Given the description of an element on the screen output the (x, y) to click on. 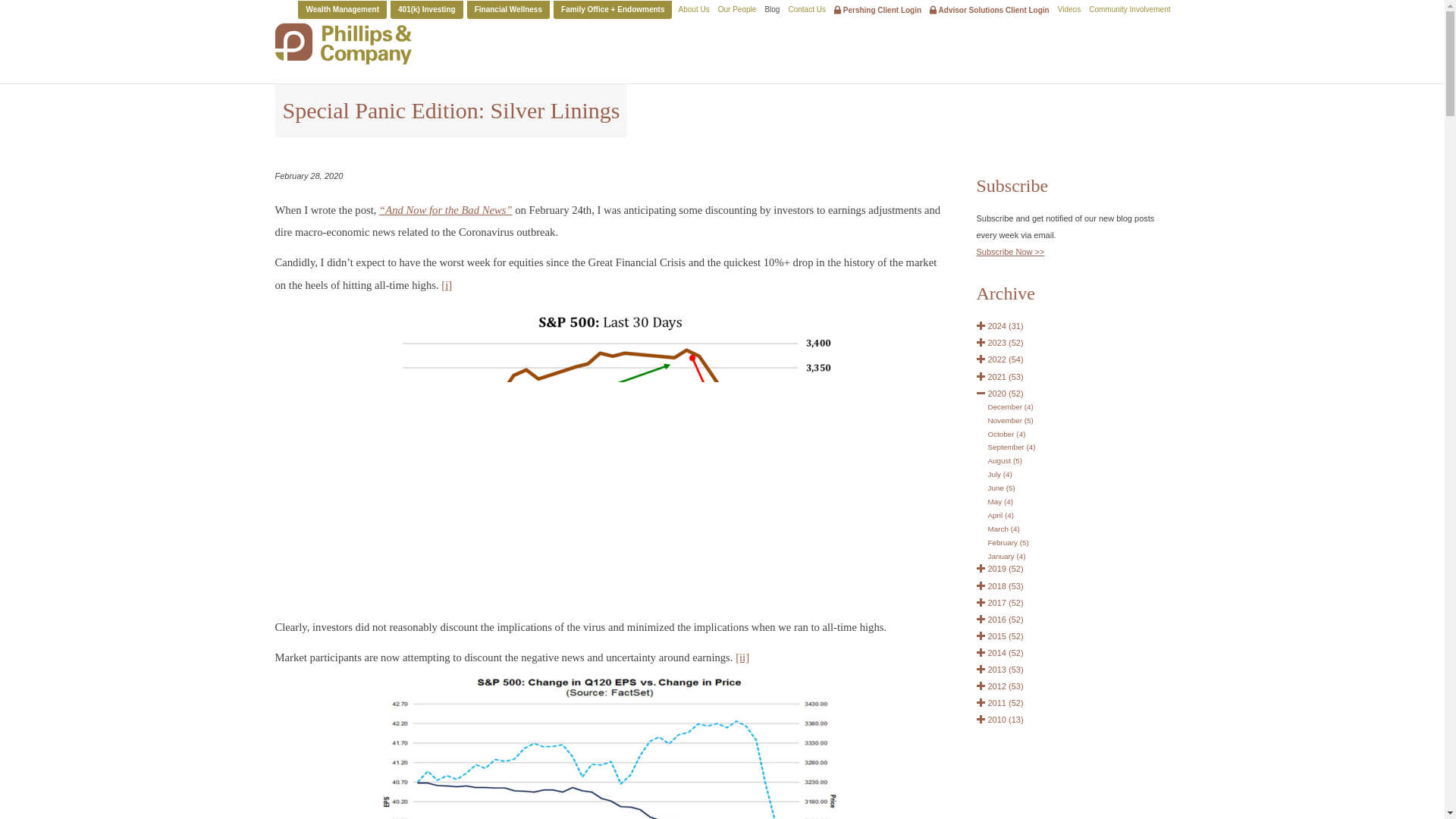
Contact Us (806, 9)
Our People (737, 9)
About Us (694, 9)
Videos (1069, 9)
Community Involvement (1129, 9)
Wealth Management (342, 9)
Blog (771, 9)
Pershing Client Login (877, 9)
Advisor Solutions Client Login (989, 9)
Financial Wellness (508, 9)
